Given the description of an element on the screen output the (x, y) to click on. 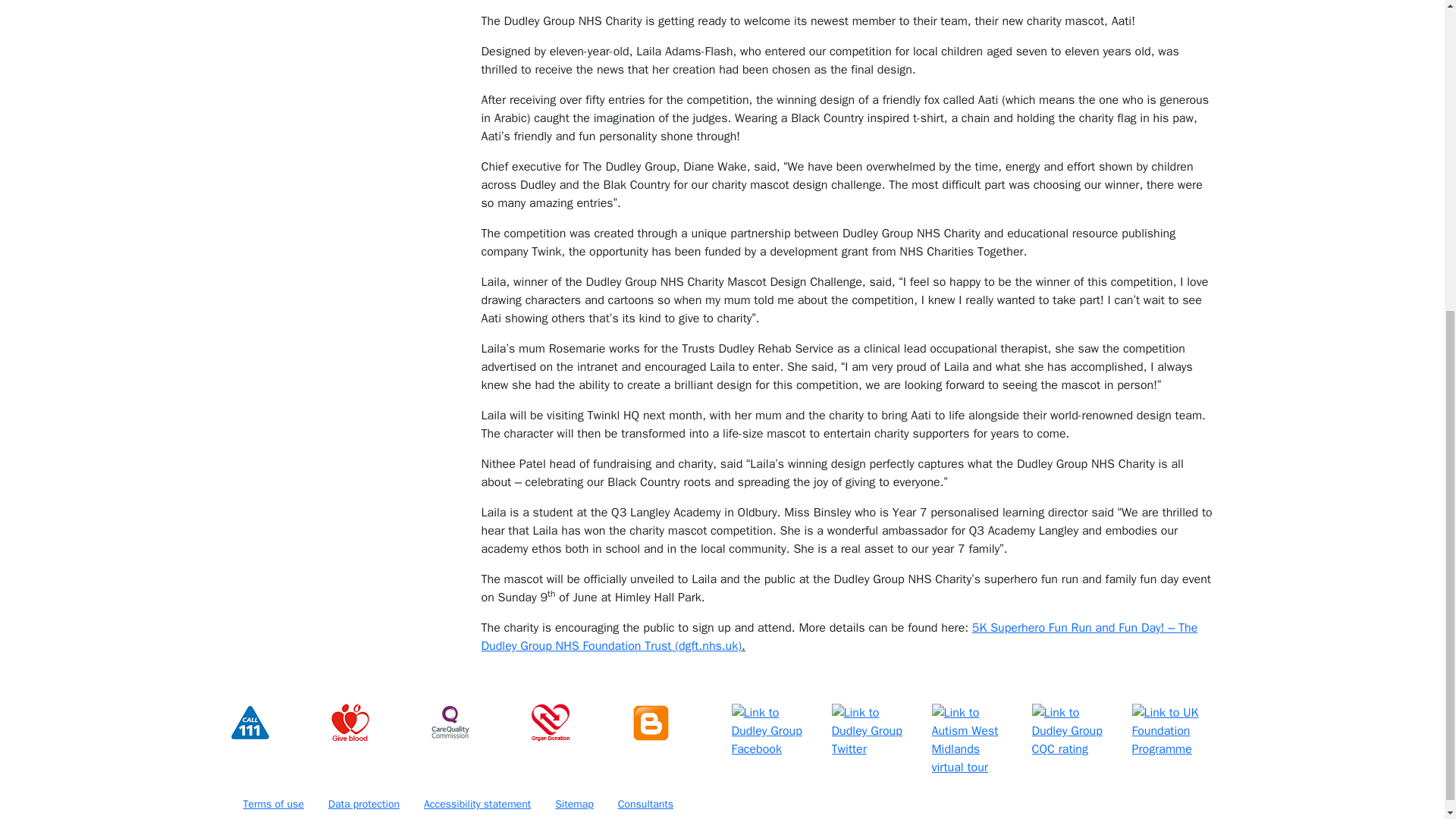
NHS England 111 (248, 722)
NHS Organ Donation (550, 722)
NHS Blood Donation (349, 722)
Dudley Group CQC rating (1071, 730)
Dudley Group Facebook (771, 730)
Dudley Group Twitter (871, 730)
Autism West Midlands virtual tour (972, 739)
Dudley Group directors' blog (649, 722)
UK Foundation Programme (1171, 730)
CQC (449, 722)
